Given the description of an element on the screen output the (x, y) to click on. 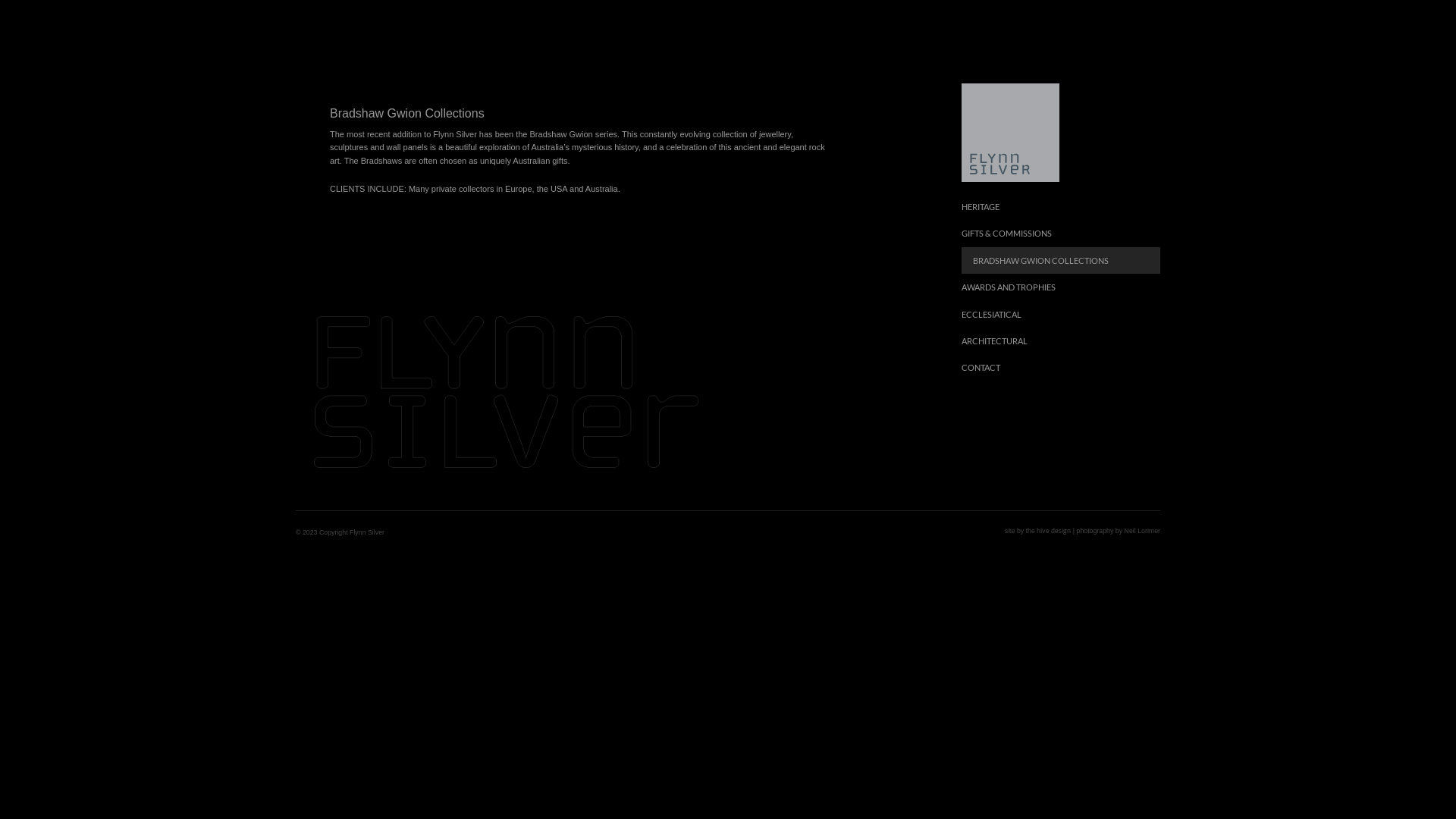
AWARDS AND TROPHIES Element type: text (1061, 286)
HERITAGE Element type: text (1061, 206)
hive design Element type: text (1053, 530)
CONTACT Element type: text (1061, 367)
GIFTS & COMMISSIONS Element type: text (1061, 232)
BRADSHAW GWION COLLECTIONS Element type: text (1061, 260)
ARCHITECTURAL Element type: text (1061, 340)
ECCLESIATICAL Element type: text (1061, 314)
